Given the description of an element on the screen output the (x, y) to click on. 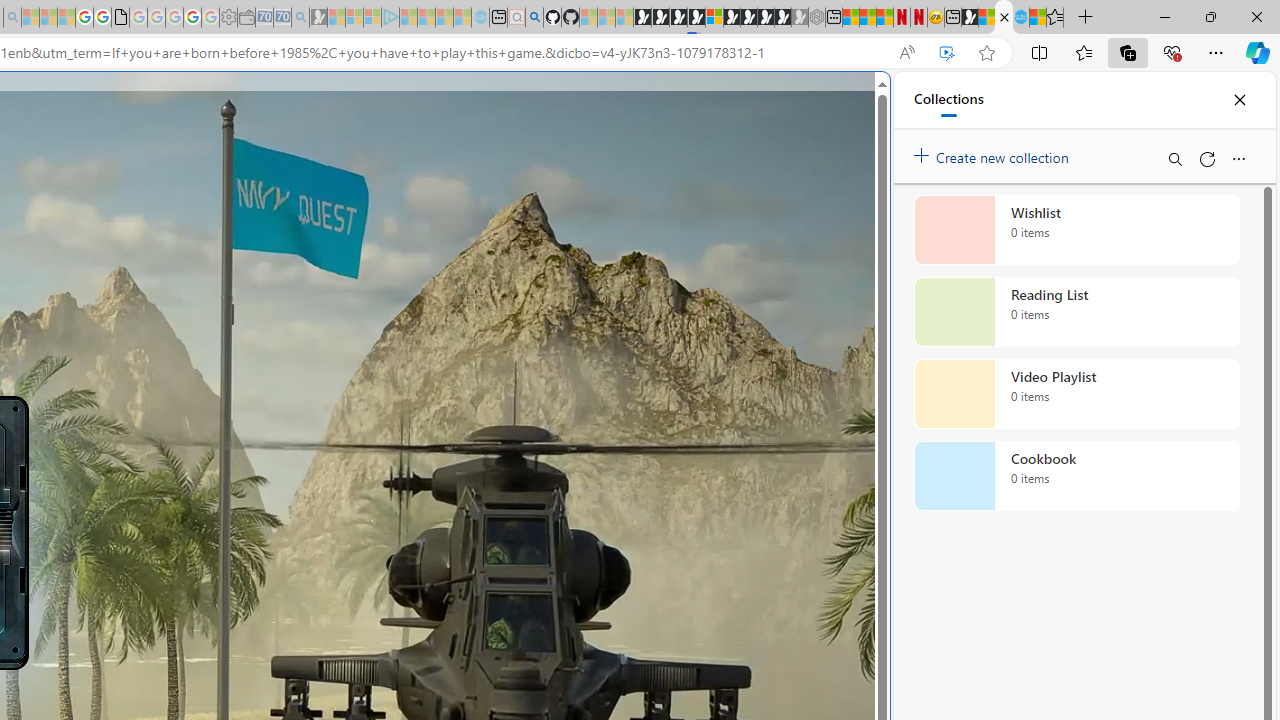
github - Search (534, 17)
Enhance video (946, 53)
Close split screen (844, 102)
